Given the description of an element on the screen output the (x, y) to click on. 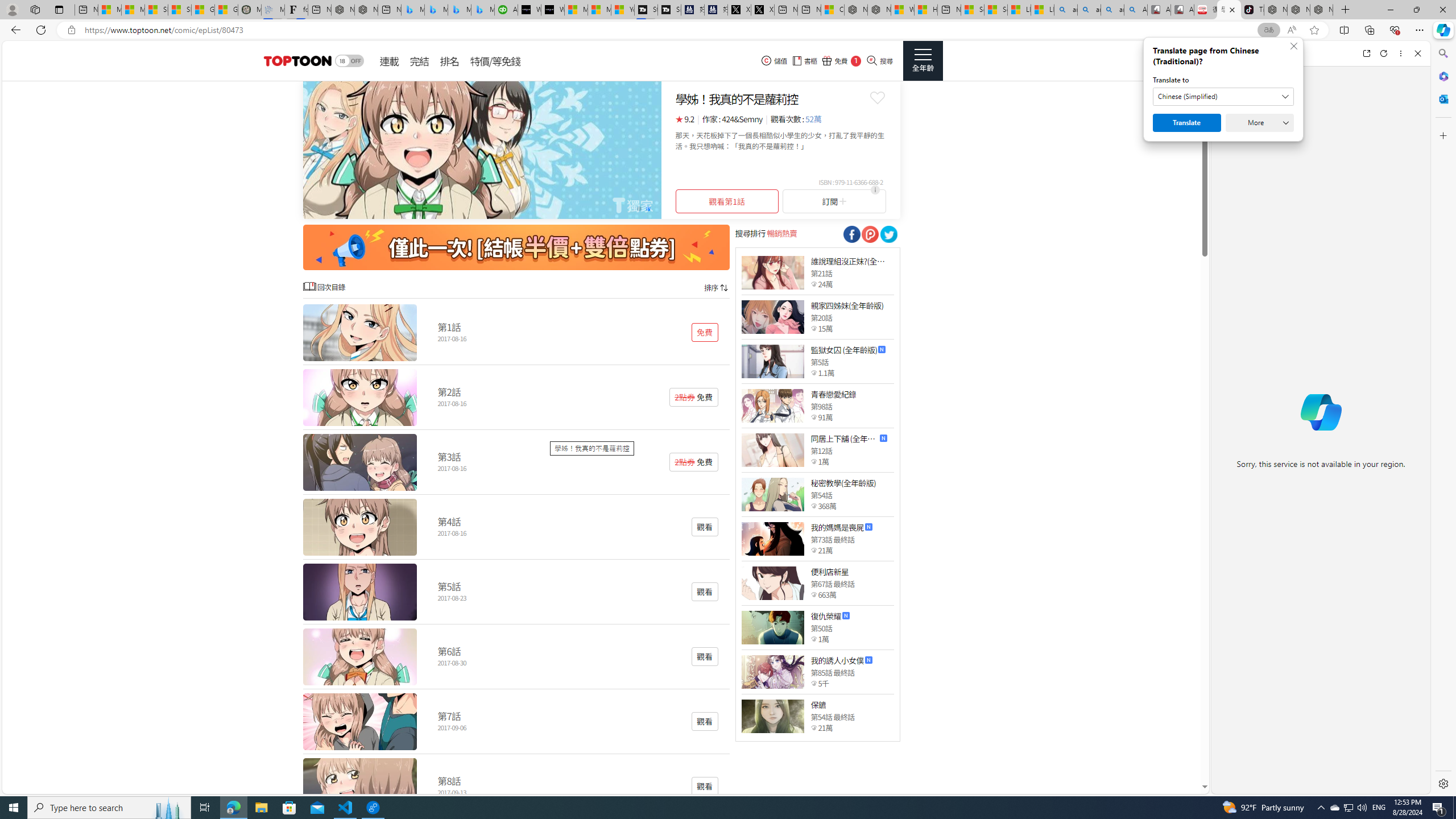
Go to slide 2 (647, 208)
Go to slide 1 (639, 208)
Class: thumb_img (772, 715)
Class: side_menu_btn actionRightMenuBtn (922, 60)
